Given the description of an element on the screen output the (x, y) to click on. 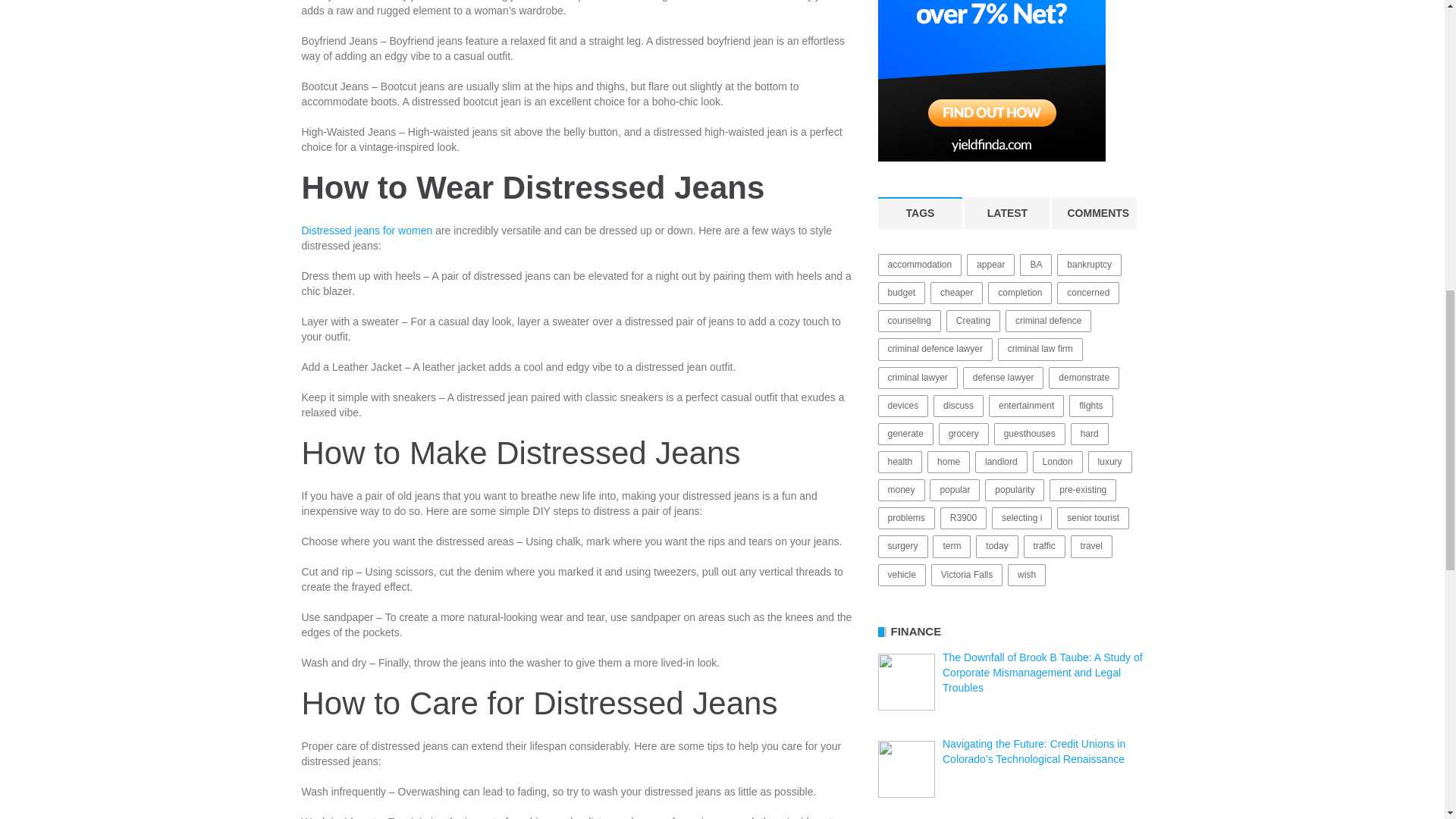
TAGS (919, 213)
appear (990, 264)
cheaper (956, 292)
LATEST (1006, 213)
COMMENTS (1094, 213)
counseling (908, 321)
BA (1035, 264)
bankruptcy (1089, 264)
concerned (1088, 292)
Creating (973, 321)
